Given the description of an element on the screen output the (x, y) to click on. 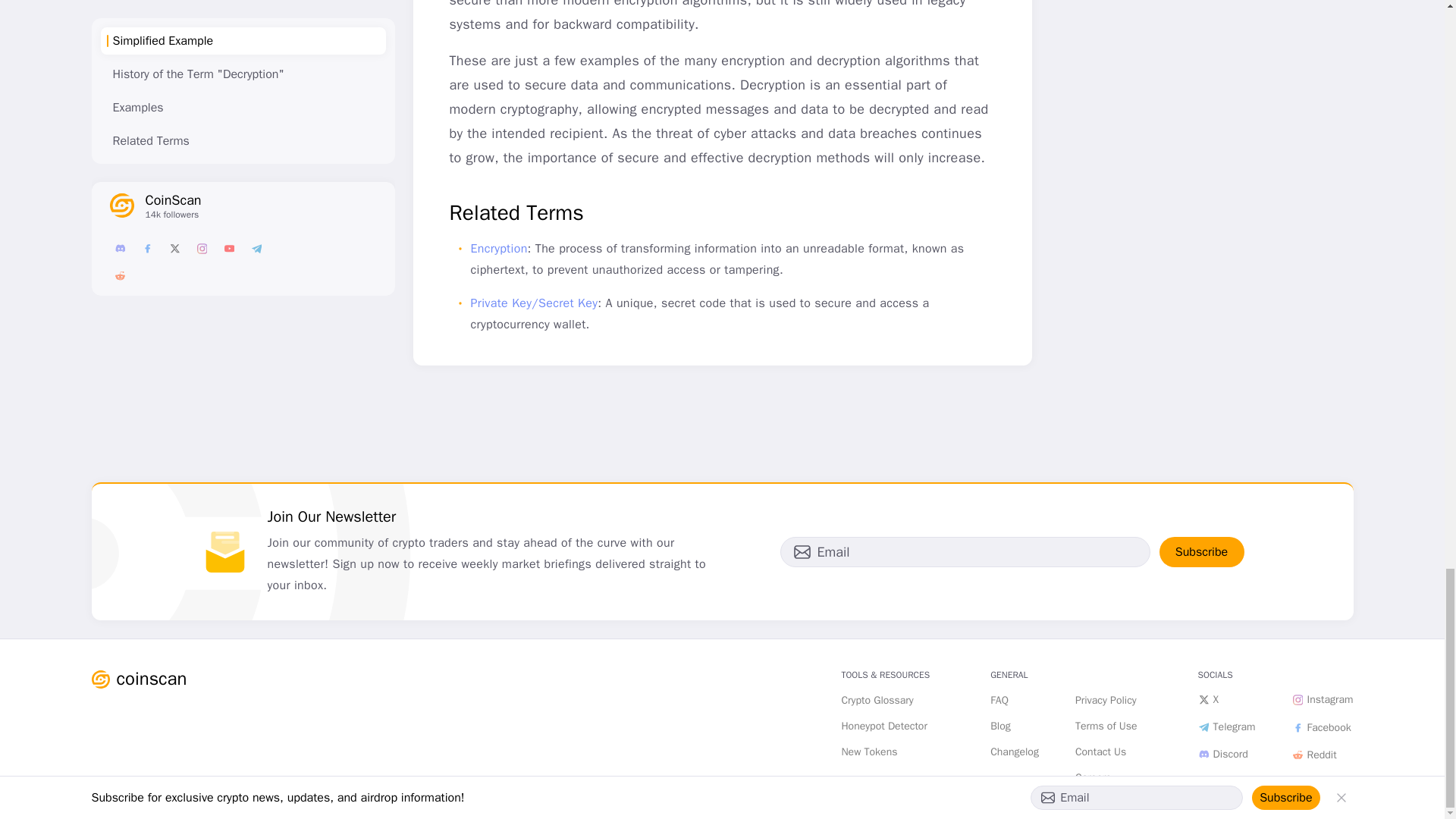
CoinScan honeypotDetector (884, 726)
CoinScan termsOfUse (1106, 726)
CoinScan privacyPolicy (1106, 700)
CoinScan blog (1000, 726)
CoinScan newTokens (868, 752)
CoinScan changelog (1014, 752)
CoinScan faq (999, 700)
CoinScan glossary (876, 700)
